Given the description of an element on the screen output the (x, y) to click on. 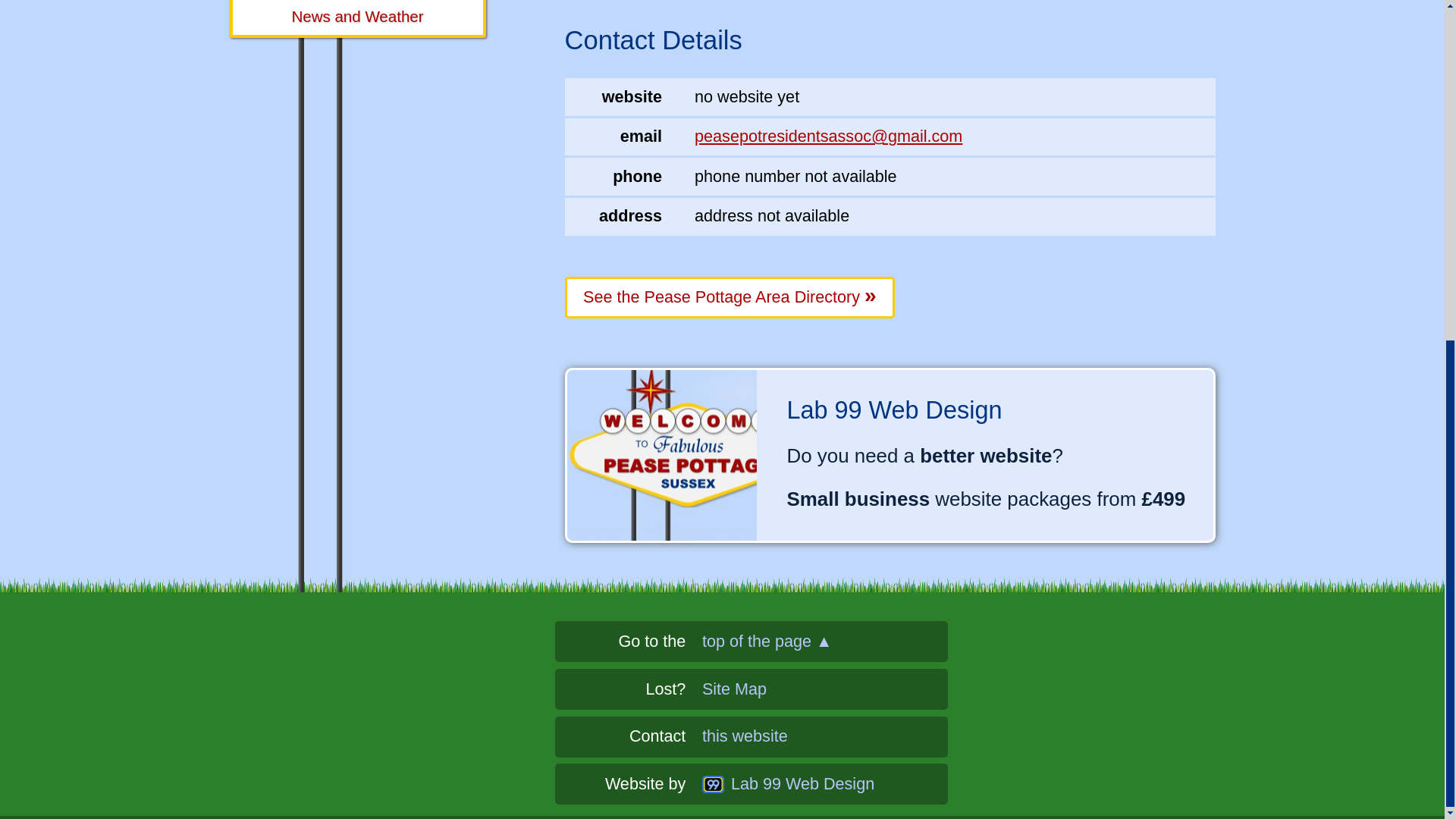
Site Map (824, 689)
Back to the top (824, 641)
Web design in Crawley, Sussex (889, 454)
Businesses and facilities in and around Pease Pottage (729, 297)
this website (824, 735)
Contact the Pease Pottage Info website (824, 735)
Lab 99 Web Design (824, 784)
Pease Pottage Information web site map (824, 689)
Web designers in Crawley and Horsham, Sussex (824, 784)
Pease Pottage news and weather (356, 18)
